Given the description of an element on the screen output the (x, y) to click on. 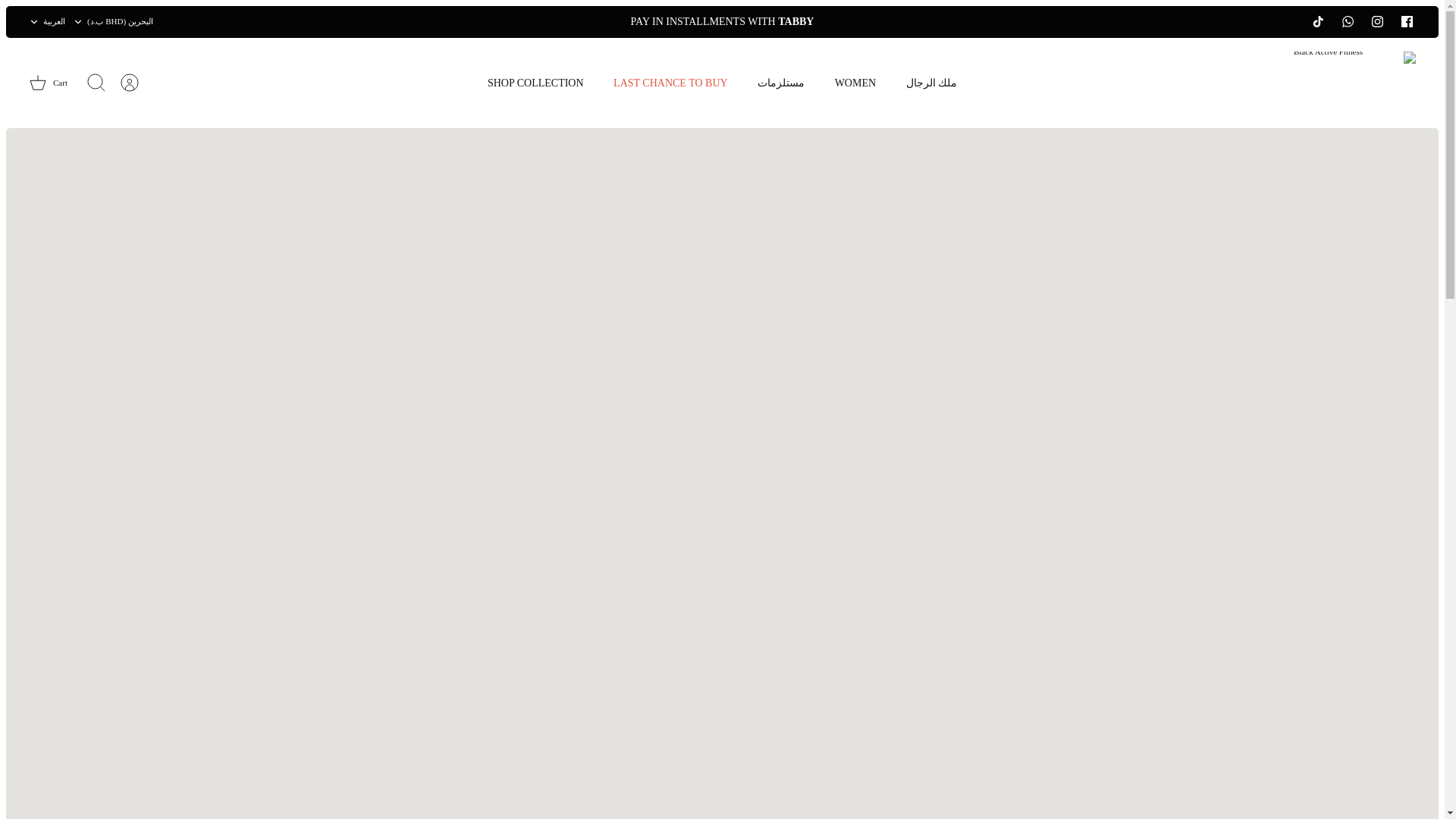
Facebook (1406, 21)
Instagram (1376, 21)
Instagram (1377, 21)
Black Active Fitness (1333, 82)
Facebook (1406, 21)
